Given the description of an element on the screen output the (x, y) to click on. 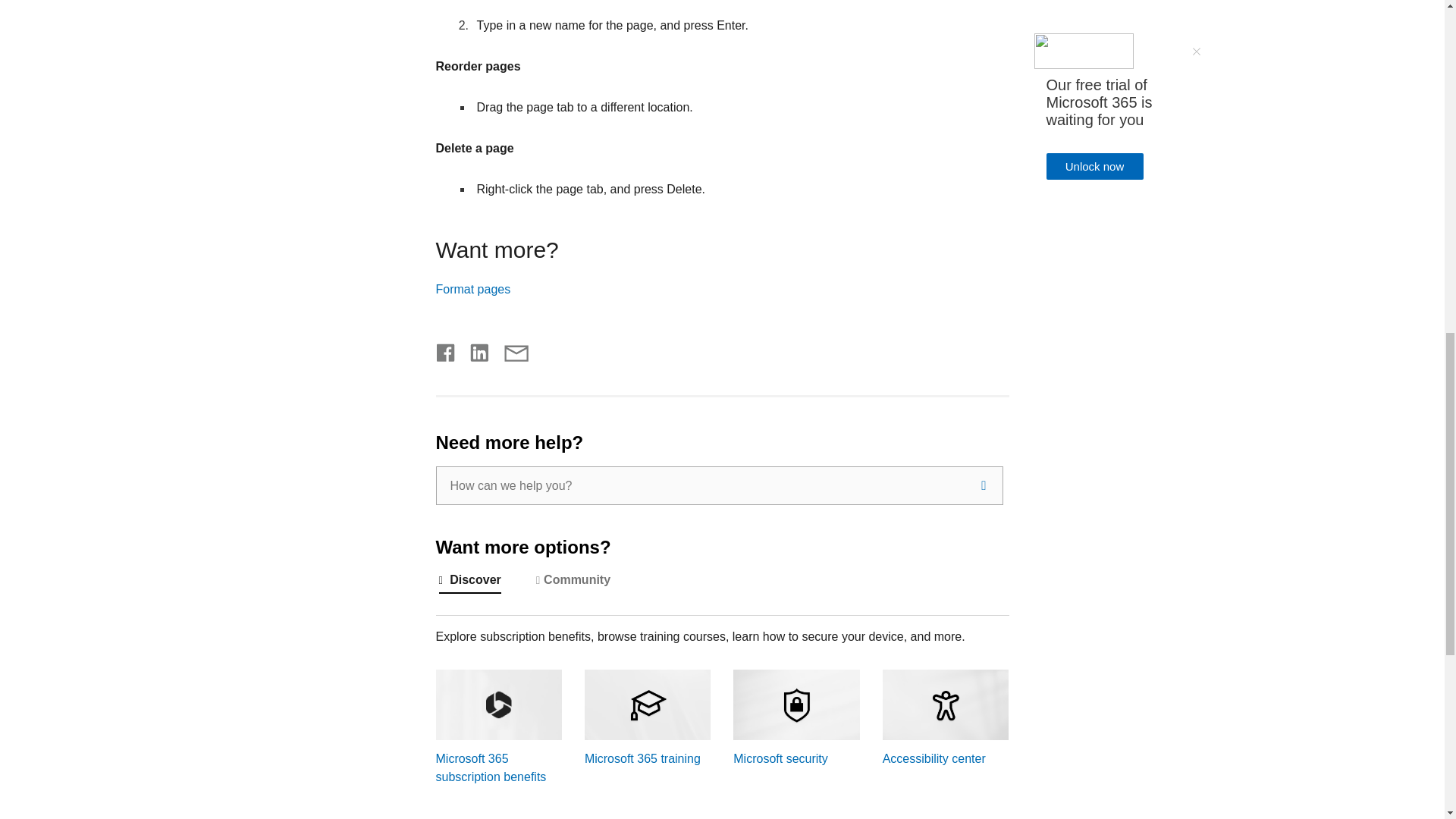
Search (983, 485)
Share by email (509, 349)
Share on Facebook (446, 349)
Share on LinkedIn (473, 349)
